Given the description of an element on the screen output the (x, y) to click on. 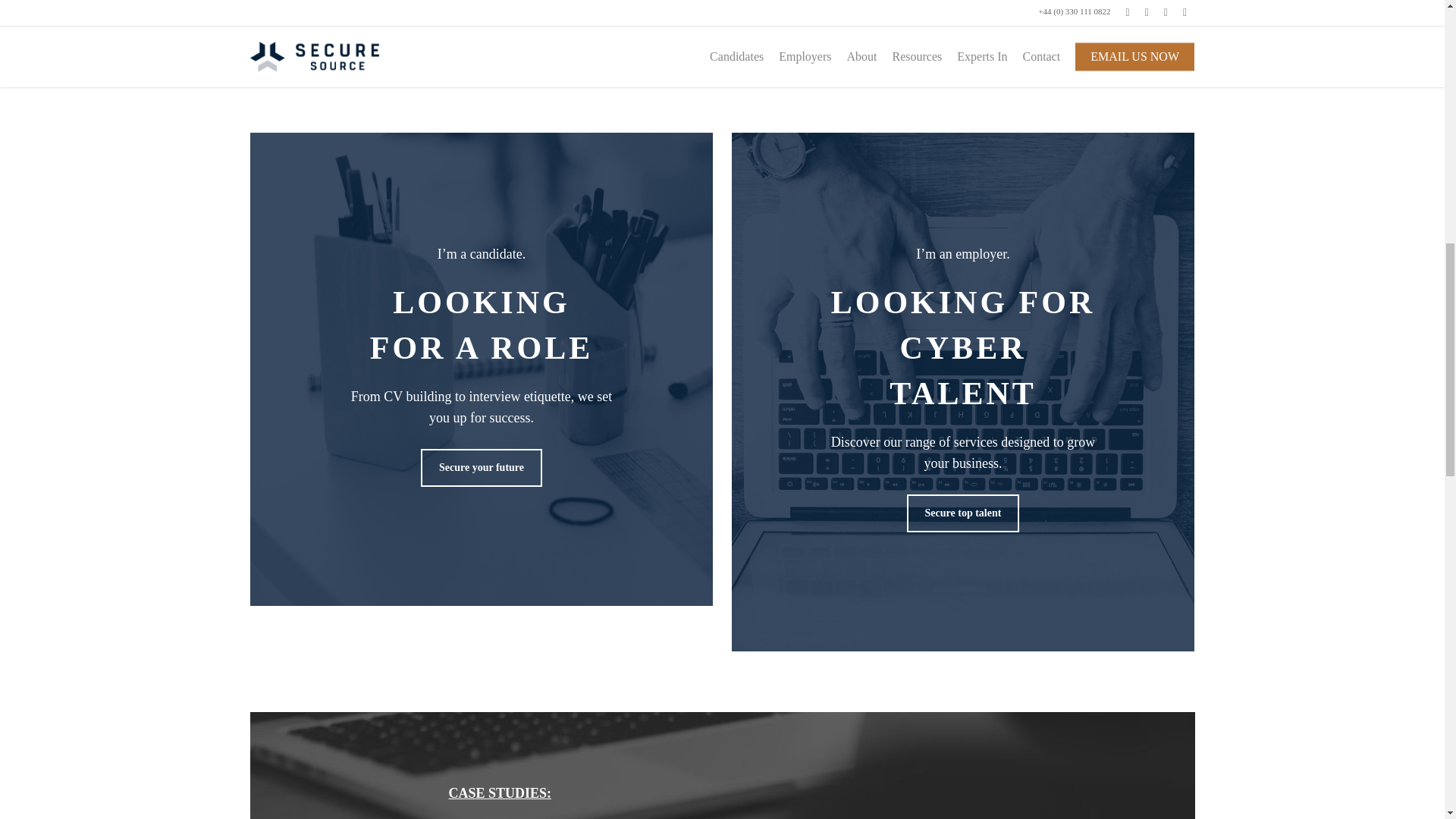
Secure your future (480, 467)
Secure top talent (963, 513)
